Given the description of an element on the screen output the (x, y) to click on. 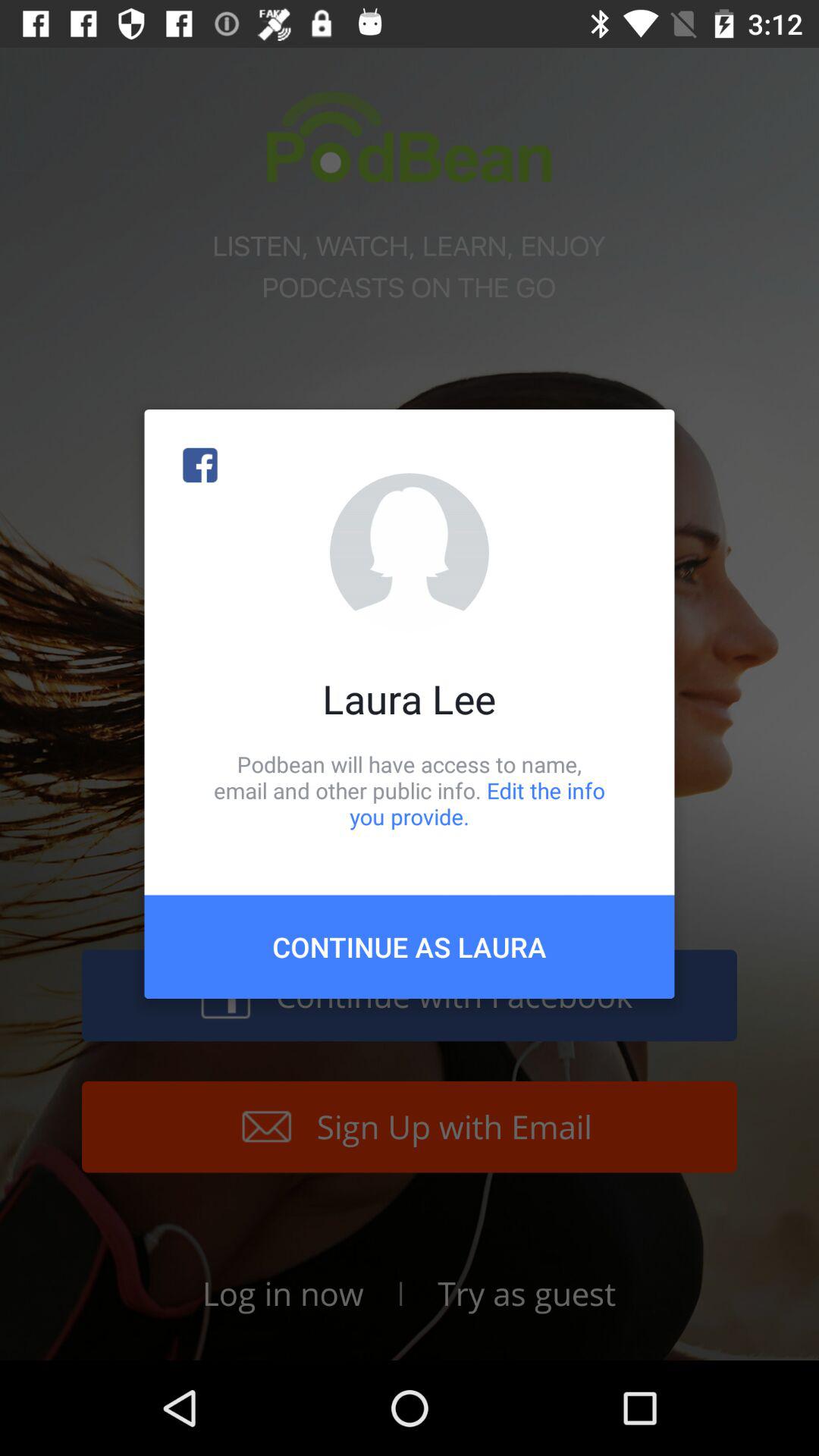
tap icon below the podbean will have item (409, 946)
